Given the description of an element on the screen output the (x, y) to click on. 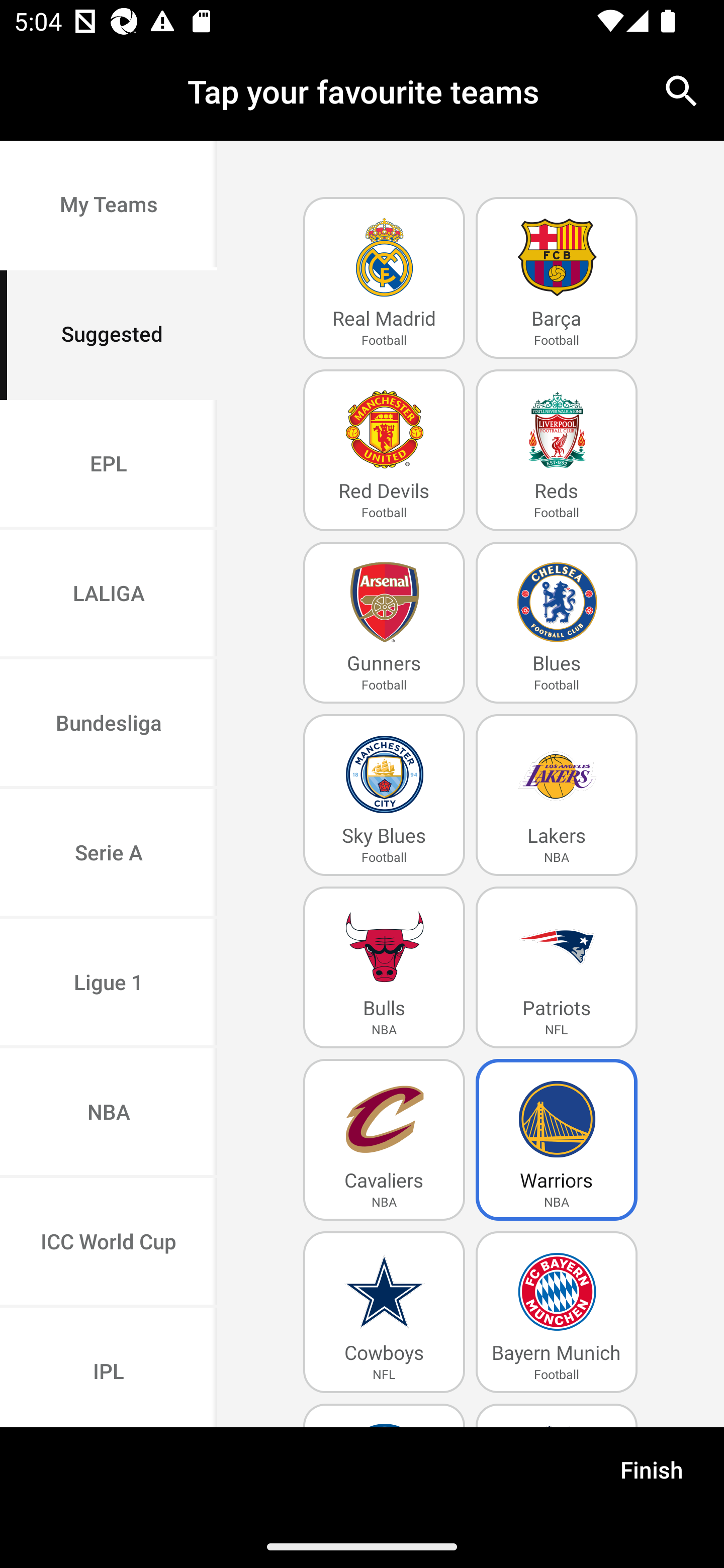
search (681, 90)
My Teams (108, 206)
Real Madrid Real Madrid Football (383, 278)
Barça Barça Football (556, 278)
Suggested (108, 334)
Red Devils Red Devils Football (383, 450)
Reds Reds Football (556, 450)
EPL (108, 464)
LALIGA (108, 594)
Gunners Gunners Football (383, 623)
Blues Blues Football (556, 623)
Bundesliga (108, 725)
Sky Blues Sky Blues Football (383, 794)
Lakers Lakers NBA (556, 794)
Serie A (108, 853)
Bulls Bulls NBA (383, 966)
Patriots Patriots NFL (556, 966)
Ligue 1 (108, 983)
NBA (108, 1113)
Cavaliers Cavaliers NBA (383, 1139)
Warriors WarriorsSelected NBA (556, 1139)
ICC World Cup (108, 1242)
Cowboys Cowboys NFL (383, 1311)
Bayern Munich Bayern Munich Football (556, 1311)
IPL (108, 1366)
Finish Finish and Close (651, 1475)
